Given the description of an element on the screen output the (x, y) to click on. 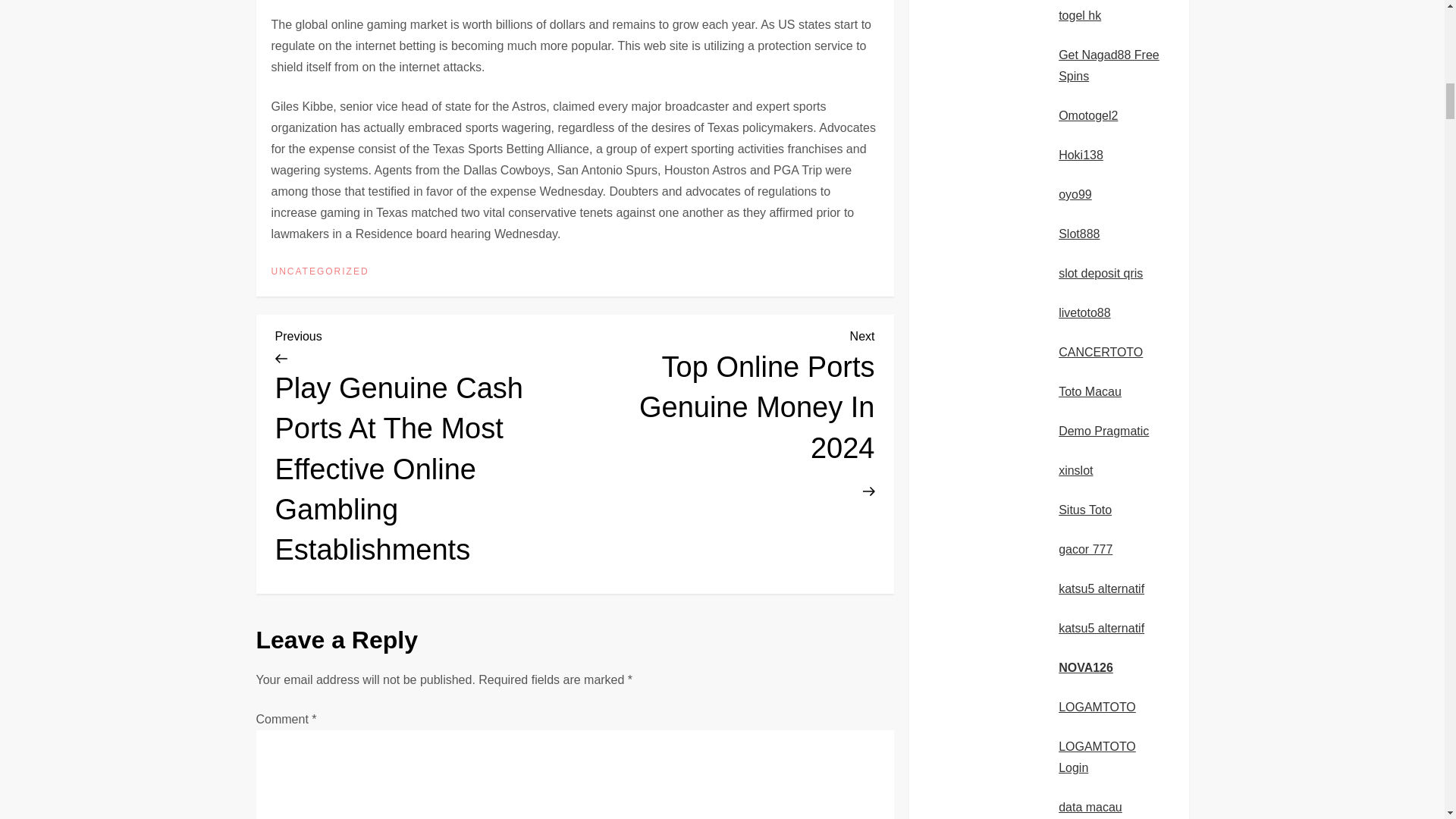
UNCATEGORIZED (319, 272)
